Given the description of an element on the screen output the (x, y) to click on. 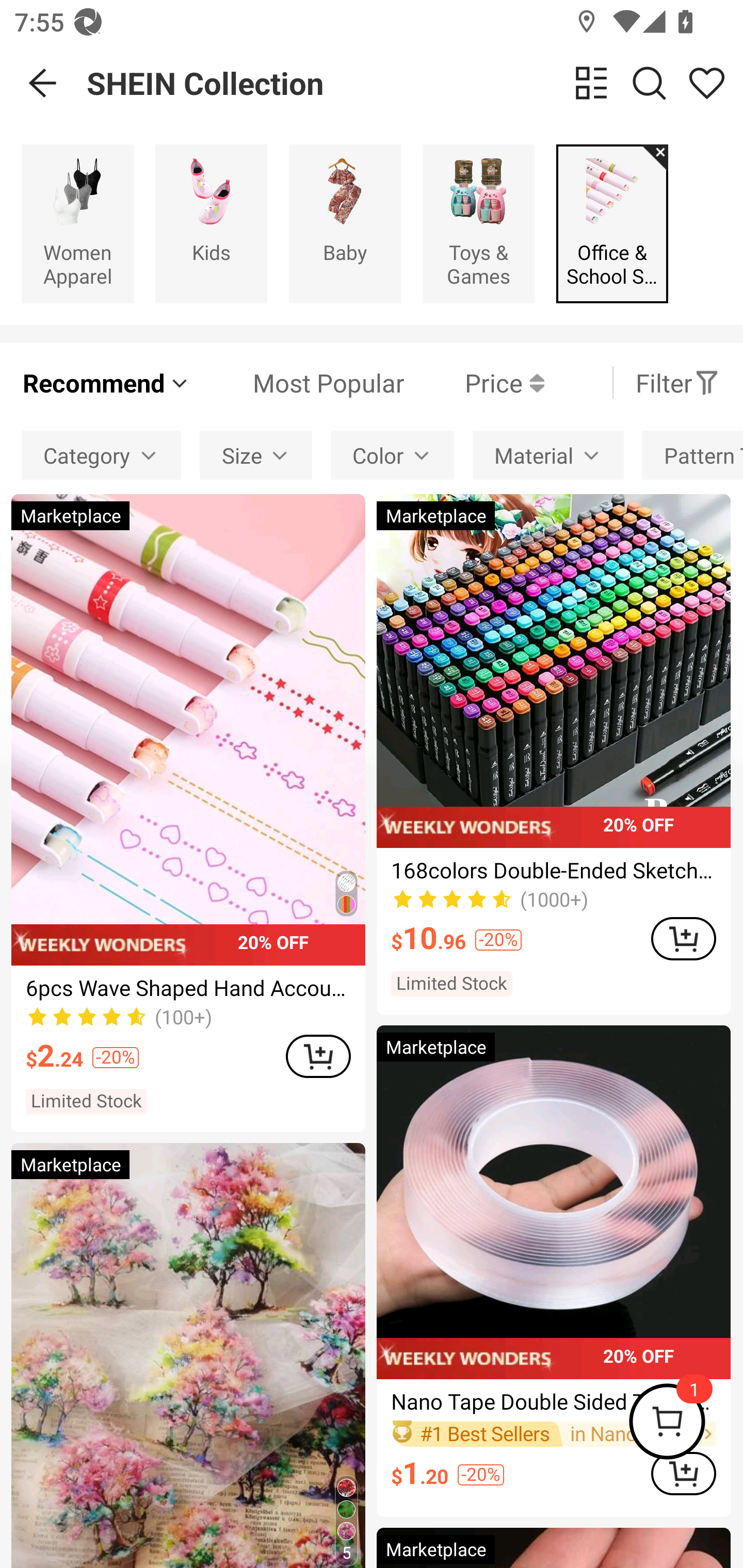
SHEIN Collection change view Search Share (414, 82)
change view (591, 82)
Search (648, 82)
Share (706, 82)
Women Apparel (77, 223)
Kids (211, 223)
Baby (345, 223)
Toys & Games (478, 223)
Office & School Supplies (611, 223)
Recommend (106, 382)
Most Popular (297, 382)
Price (474, 382)
Filter (677, 382)
Category (101, 455)
Size (255, 455)
Color (391, 455)
Material (548, 455)
Pattern Type (692, 455)
ADD TO CART (683, 938)
ADD TO CART (318, 1056)
#1 Best Sellers in Nano Tape (553, 1433)
ADD TO CART (683, 1473)
